Given the description of an element on the screen output the (x, y) to click on. 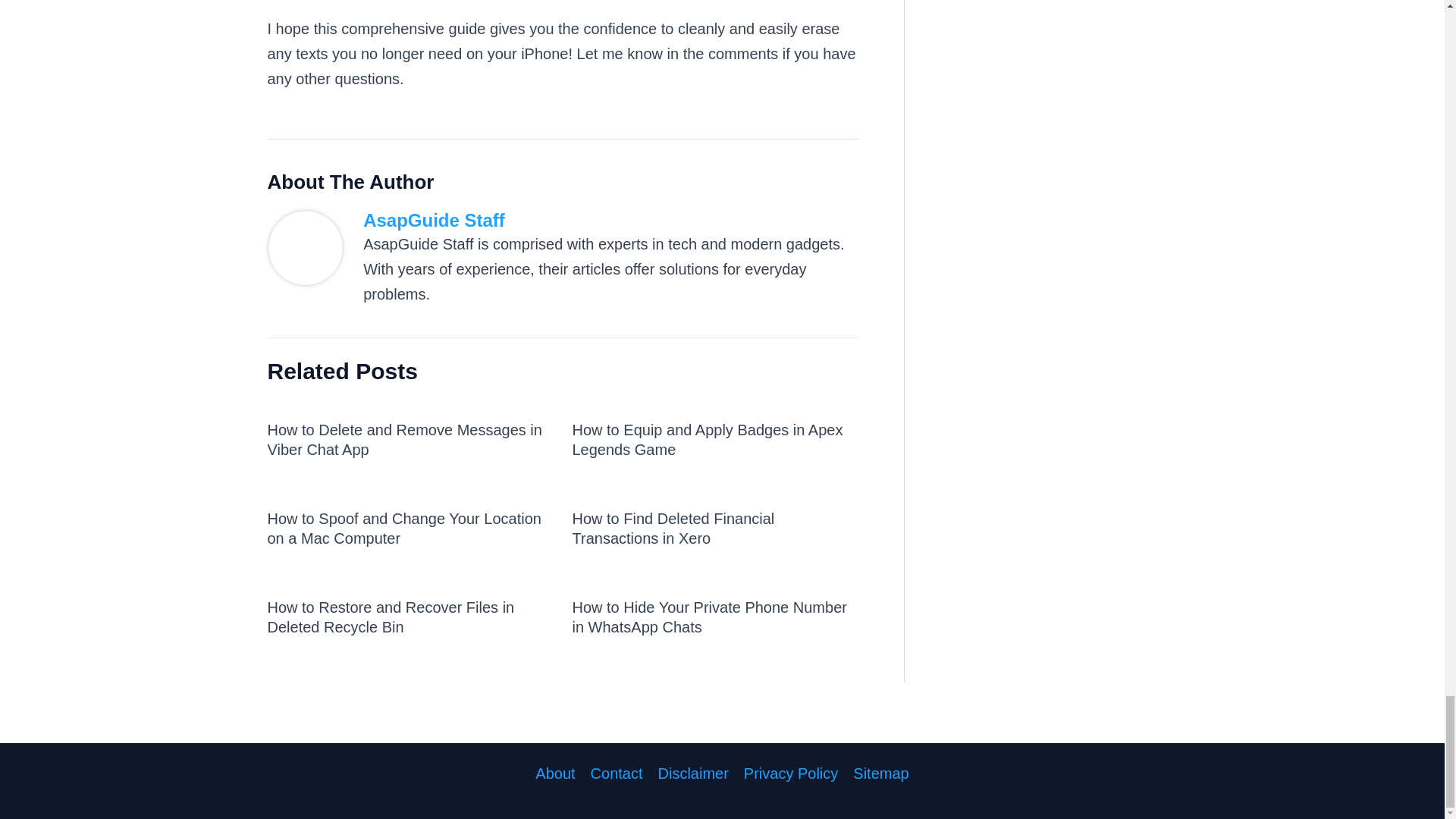
How to Spoof and Change Your Location on a Mac Computer (403, 528)
AsapGuide Staff (609, 220)
How to Find Deleted Financial Transactions in Xero (673, 528)
How to Hide Your Private Phone Number in WhatsApp Chats (708, 616)
How to Restore and Recover Files in Deleted Recycle Bin (389, 616)
How to Equip and Apply Badges in Apex Legends Game (707, 439)
How to Delete and Remove Messages in Viber Chat App (403, 439)
